Given the description of an element on the screen output the (x, y) to click on. 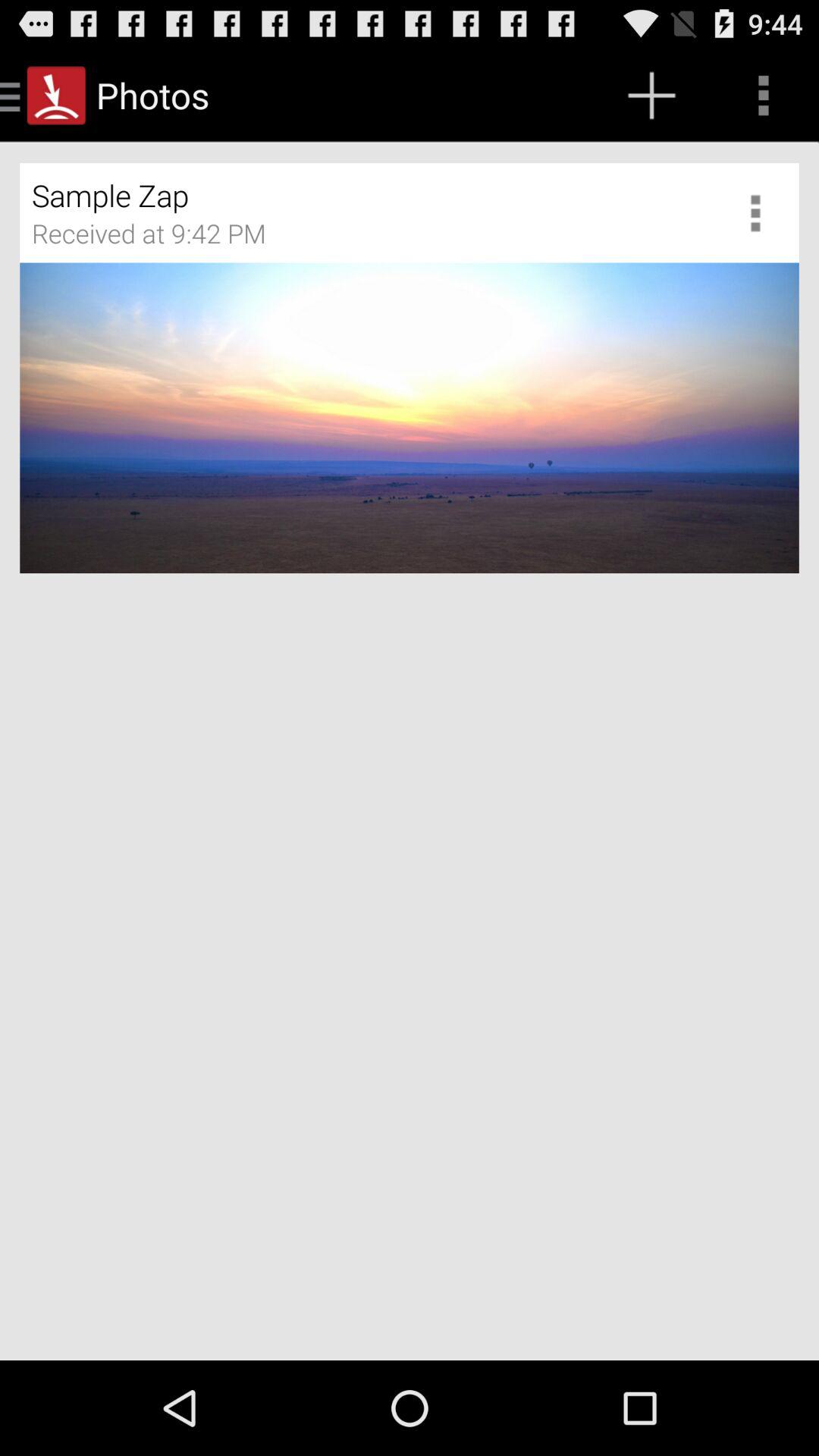
more options (761, 212)
